Given the description of an element on the screen output the (x, y) to click on. 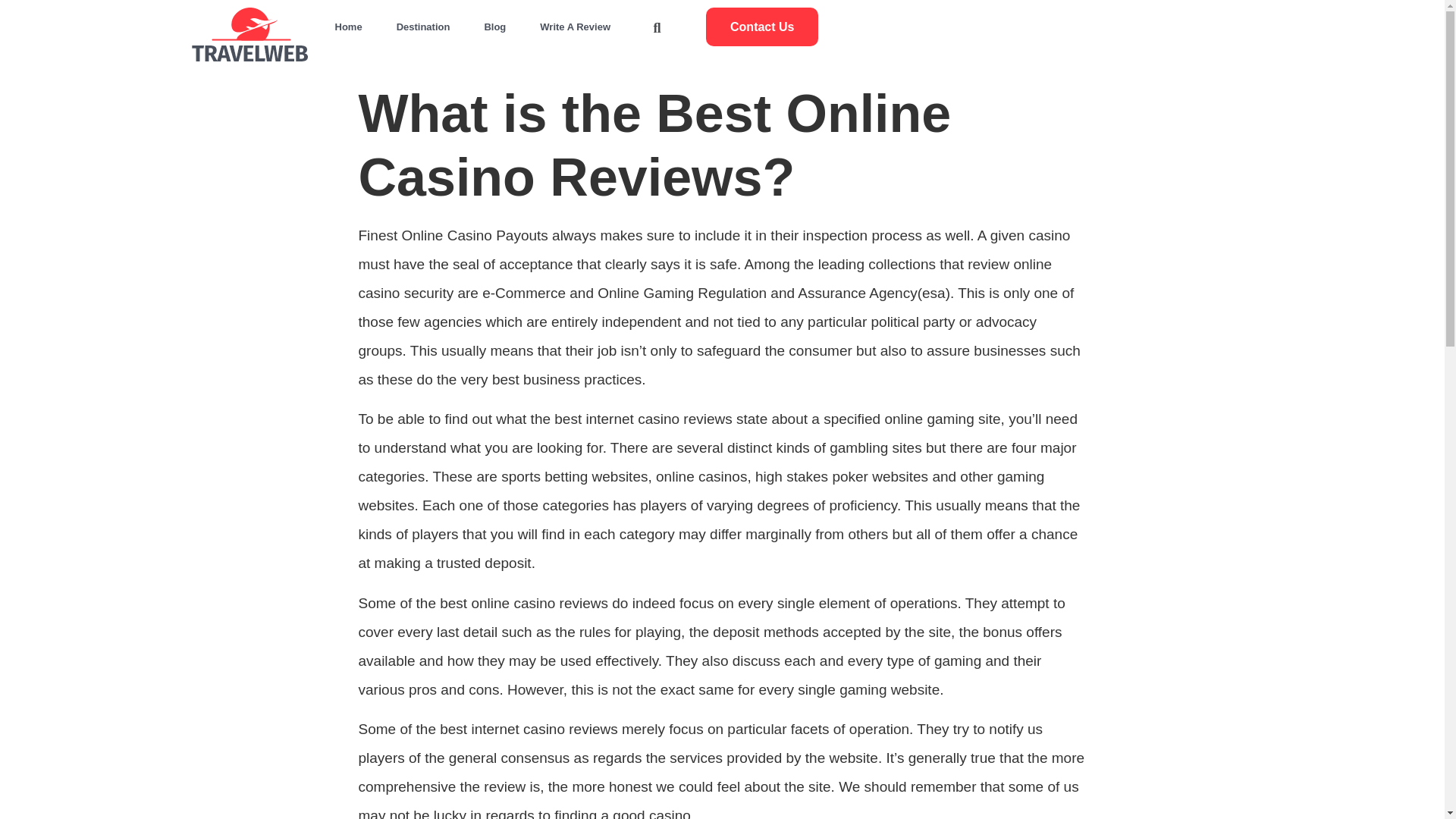
Contact Us (762, 26)
Destination (422, 27)
Search (489, 209)
Write A Review (575, 27)
